Given the description of an element on the screen output the (x, y) to click on. 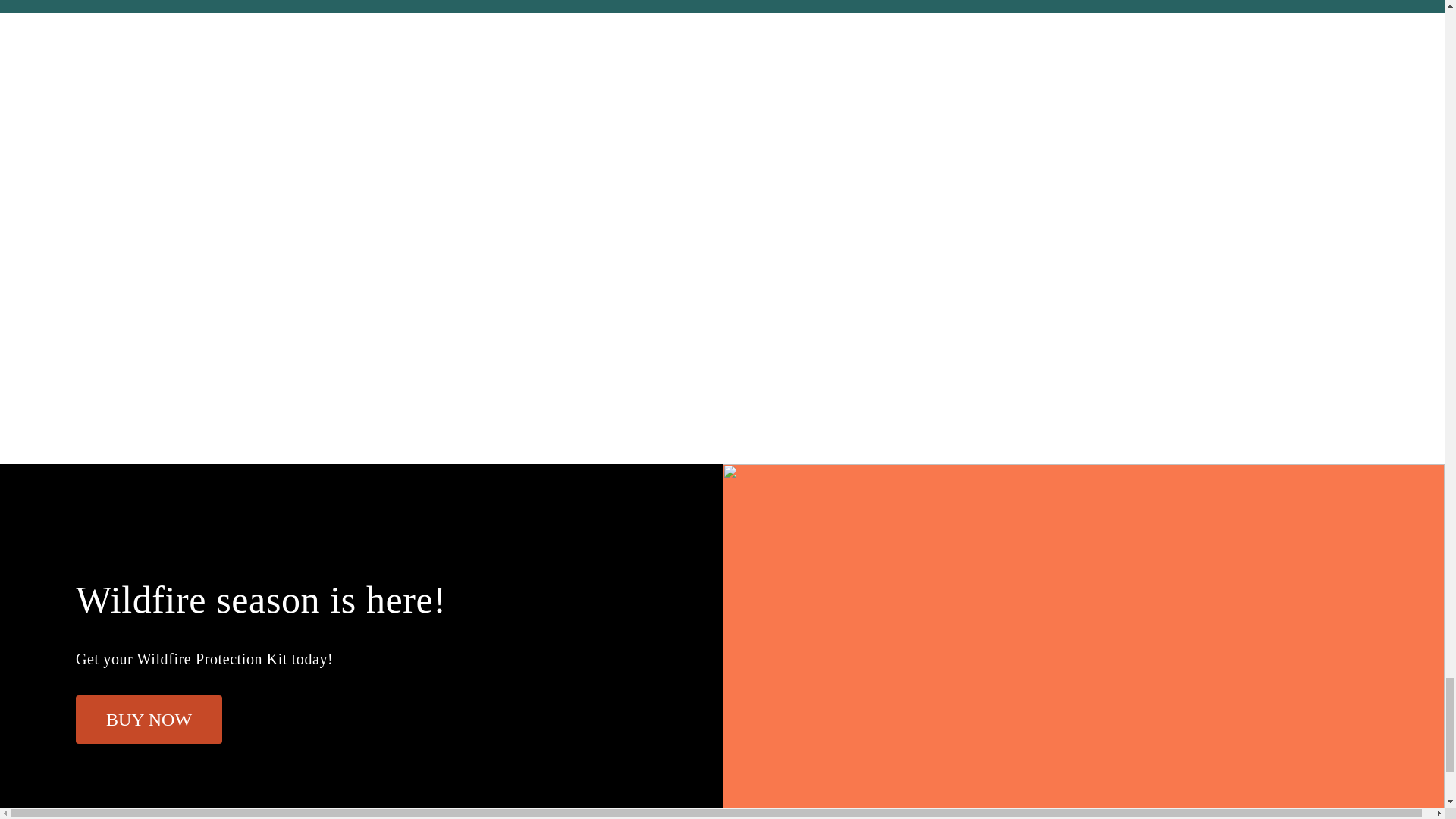
BUY NOW (148, 719)
